Given the description of an element on the screen output the (x, y) to click on. 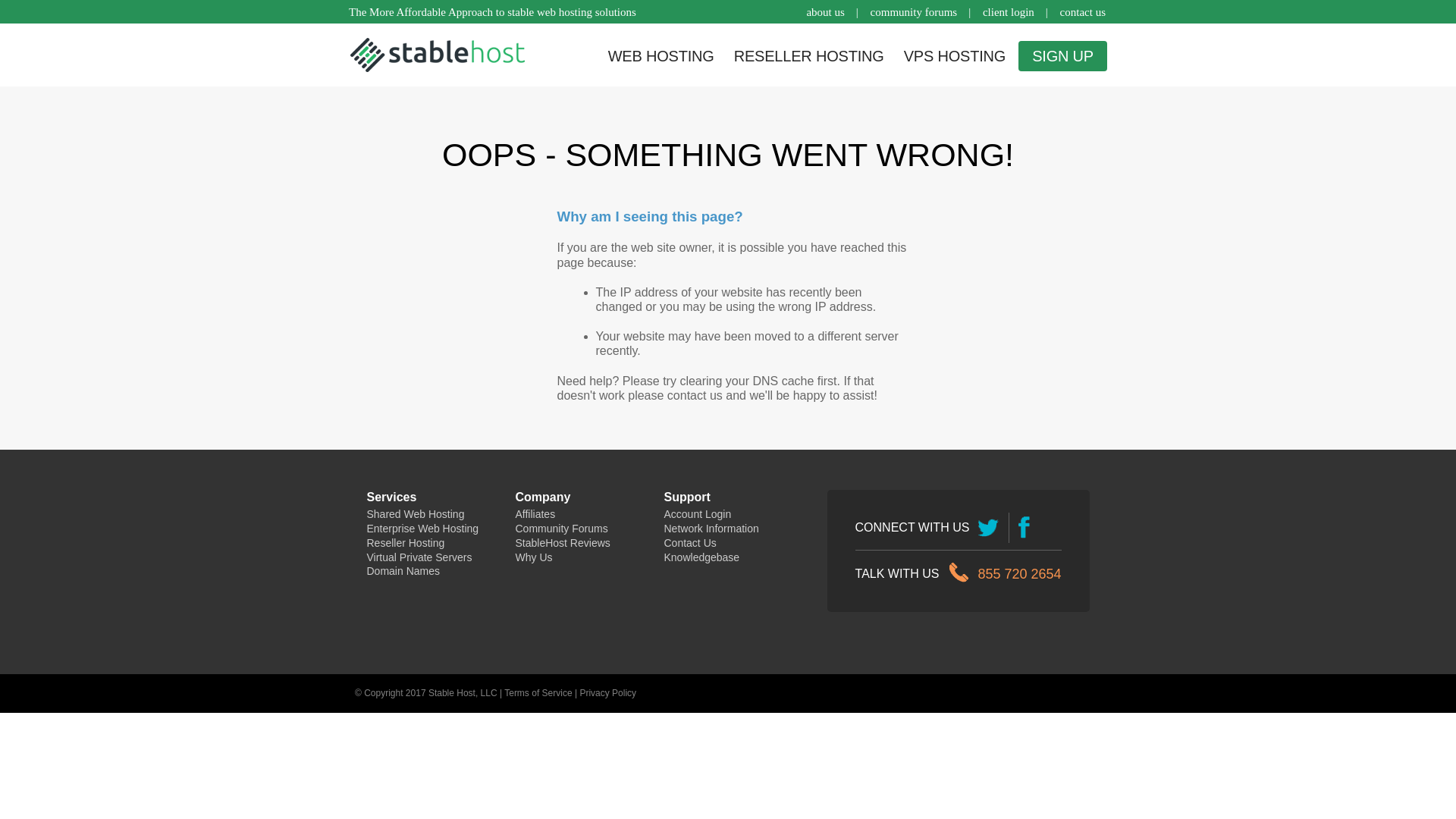
StableHost Reviews Element type: text (562, 542)
Account Login Element type: text (697, 514)
Why Us Element type: text (533, 557)
VPS HOSTING Element type: text (954, 55)
SIGN UP Element type: text (1062, 55)
facebook Element type: text (1023, 527)
Shared Web Hosting Element type: text (415, 514)
Network Information Element type: text (711, 528)
Virtual Private Servers Element type: text (419, 557)
twitter Element type: text (988, 527)
Contact Us Element type: text (690, 542)
RESELLER HOSTING Element type: text (809, 55)
about us Element type: text (825, 11)
contact us Element type: text (1082, 11)
Terms of Service Element type: text (537, 692)
Affiliates Element type: text (535, 514)
Domain Names Element type: text (403, 570)
Privacy Policy Element type: text (607, 692)
WEB HOSTING Element type: text (661, 55)
Knowledgebase Element type: text (702, 557)
Reseller Hosting Element type: text (406, 542)
community forums Element type: text (913, 11)
Community Forums Element type: text (561, 528)
client login Element type: text (1008, 11)
Enterprise Web Hosting Element type: text (423, 528)
